Given the description of an element on the screen output the (x, y) to click on. 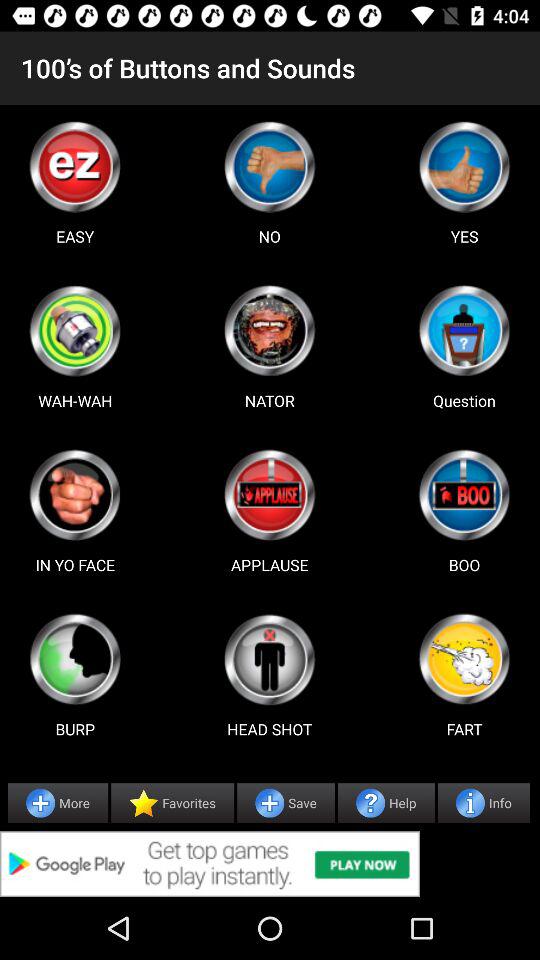
game (75, 495)
